Given the description of an element on the screen output the (x, y) to click on. 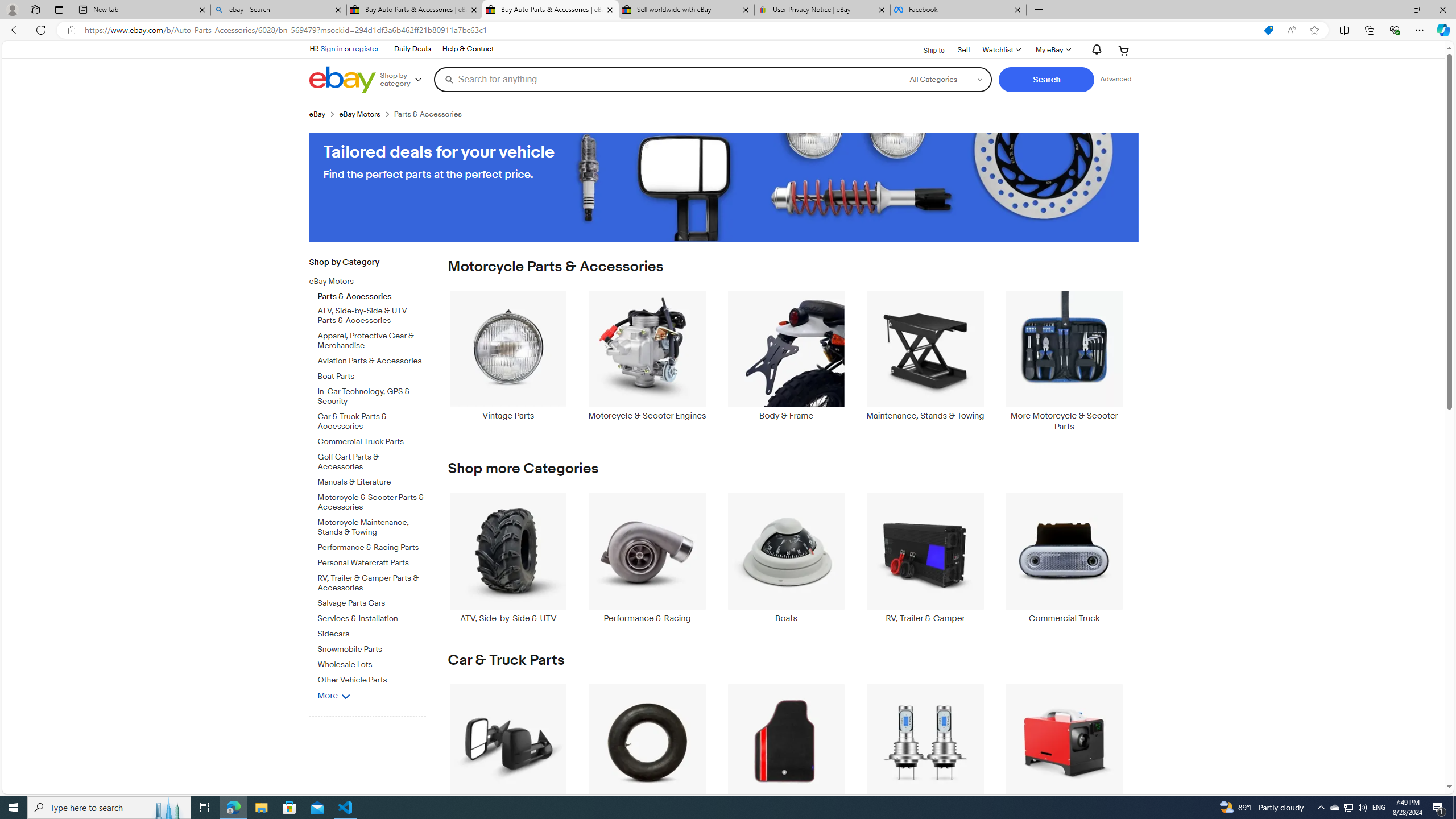
Salvage Parts Cars (371, 603)
Salvage Parts Cars (371, 601)
More Motorcycle & Scooter Parts (1064, 360)
Other Vehicle Parts (371, 678)
Sign in (331, 48)
Ship to (926, 50)
Car & Truck Parts & Accessories (371, 421)
Daily Deals (411, 49)
Sell (963, 49)
Sidecars (371, 631)
eBay Home (341, 79)
More Parts & Accessories (1064, 748)
register (366, 48)
